Given the description of an element on the screen output the (x, y) to click on. 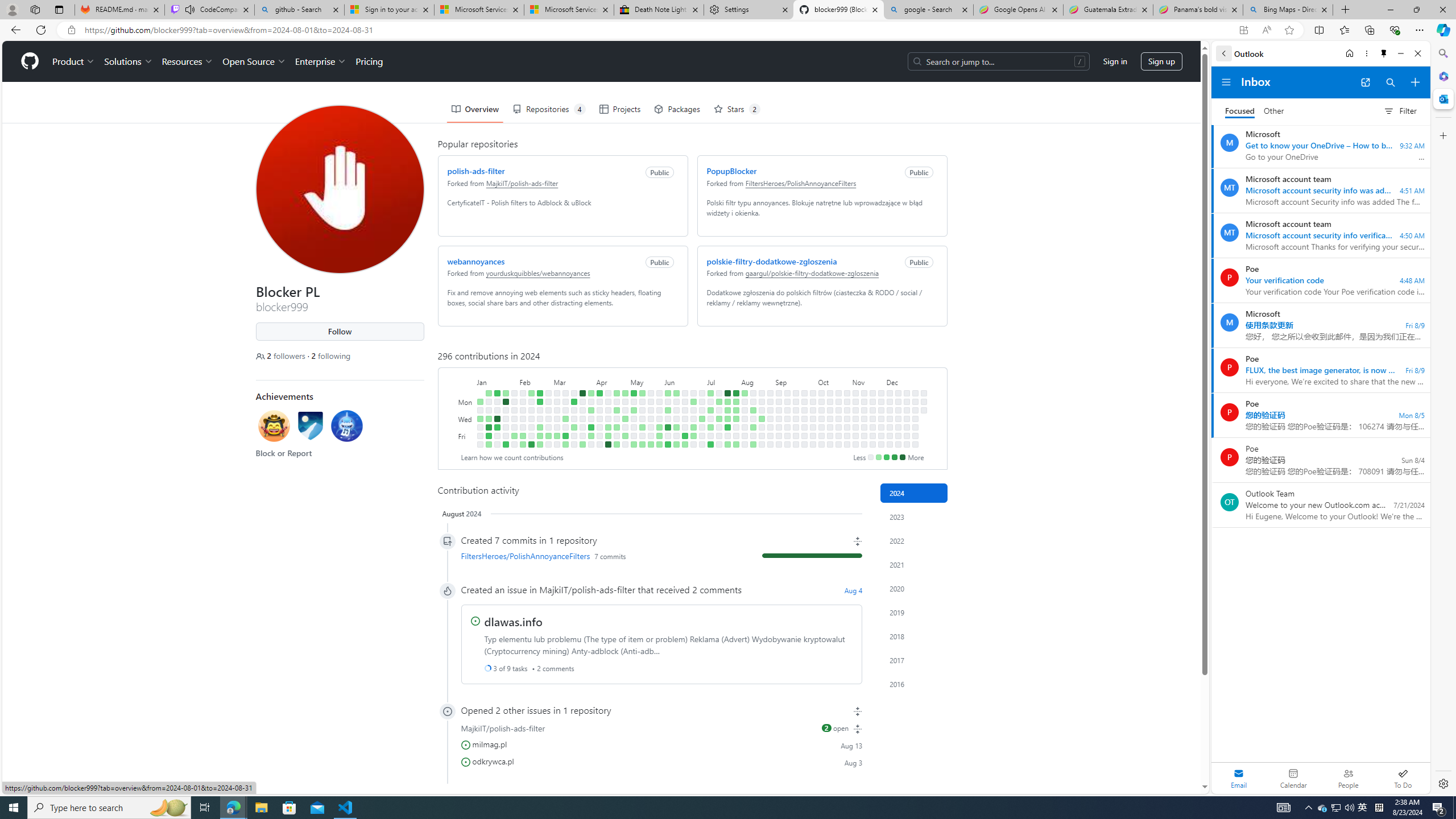
No contributions on October 23rd. (837, 418)
No contributions on October 8th. (821, 410)
@blocker999 (263, 54)
4 contributions on July 13th. (710, 444)
No contributions on March 17th. (573, 392)
